Given the description of an element on the screen output the (x, y) to click on. 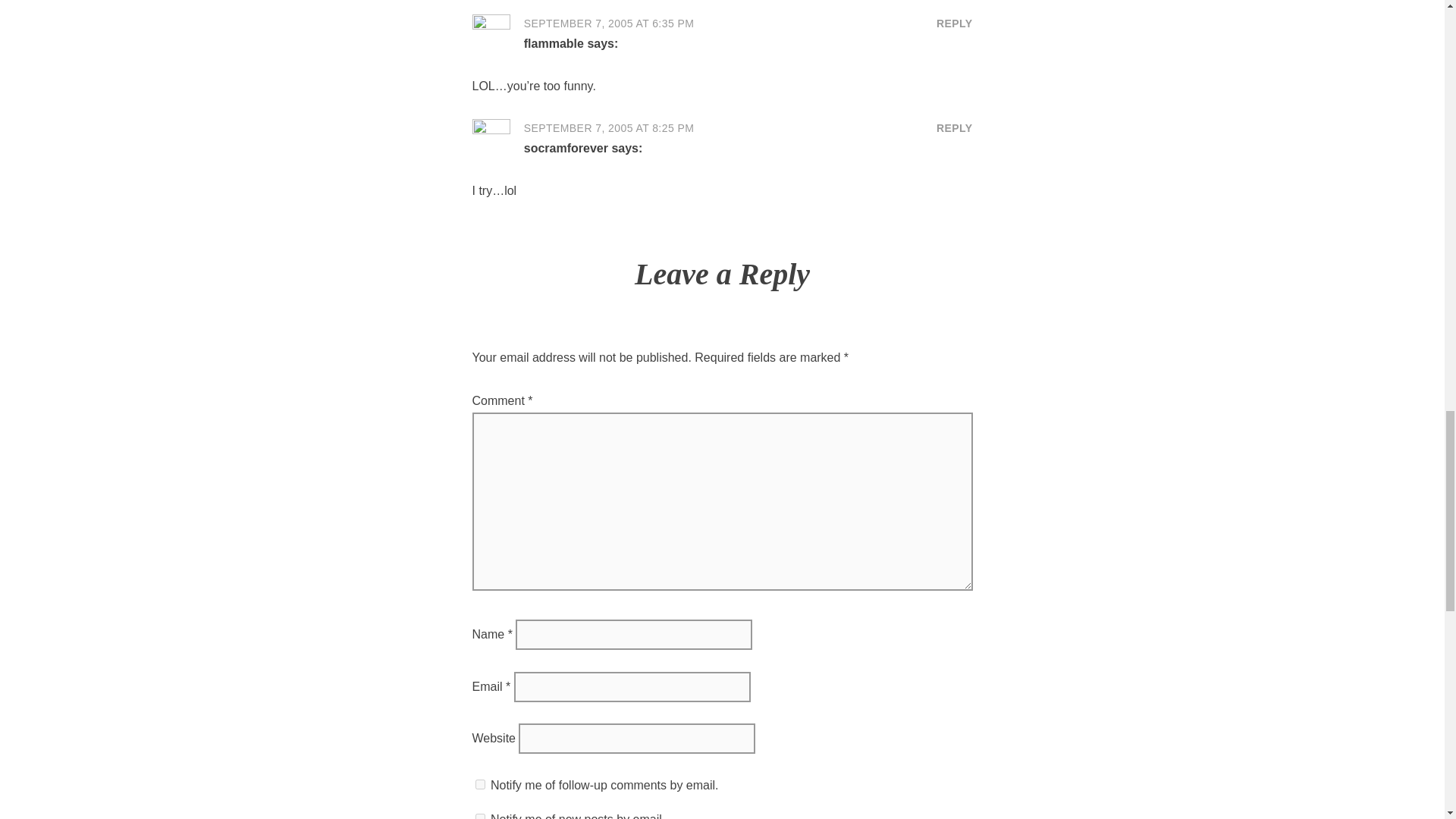
REPLY (954, 23)
SEPTEMBER 7, 2005 AT 6:35 PM (609, 23)
SEPTEMBER 7, 2005 AT 8:25 PM (609, 128)
REPLY (954, 128)
subscribe (479, 816)
subscribe (479, 784)
